Given the description of an element on the screen output the (x, y) to click on. 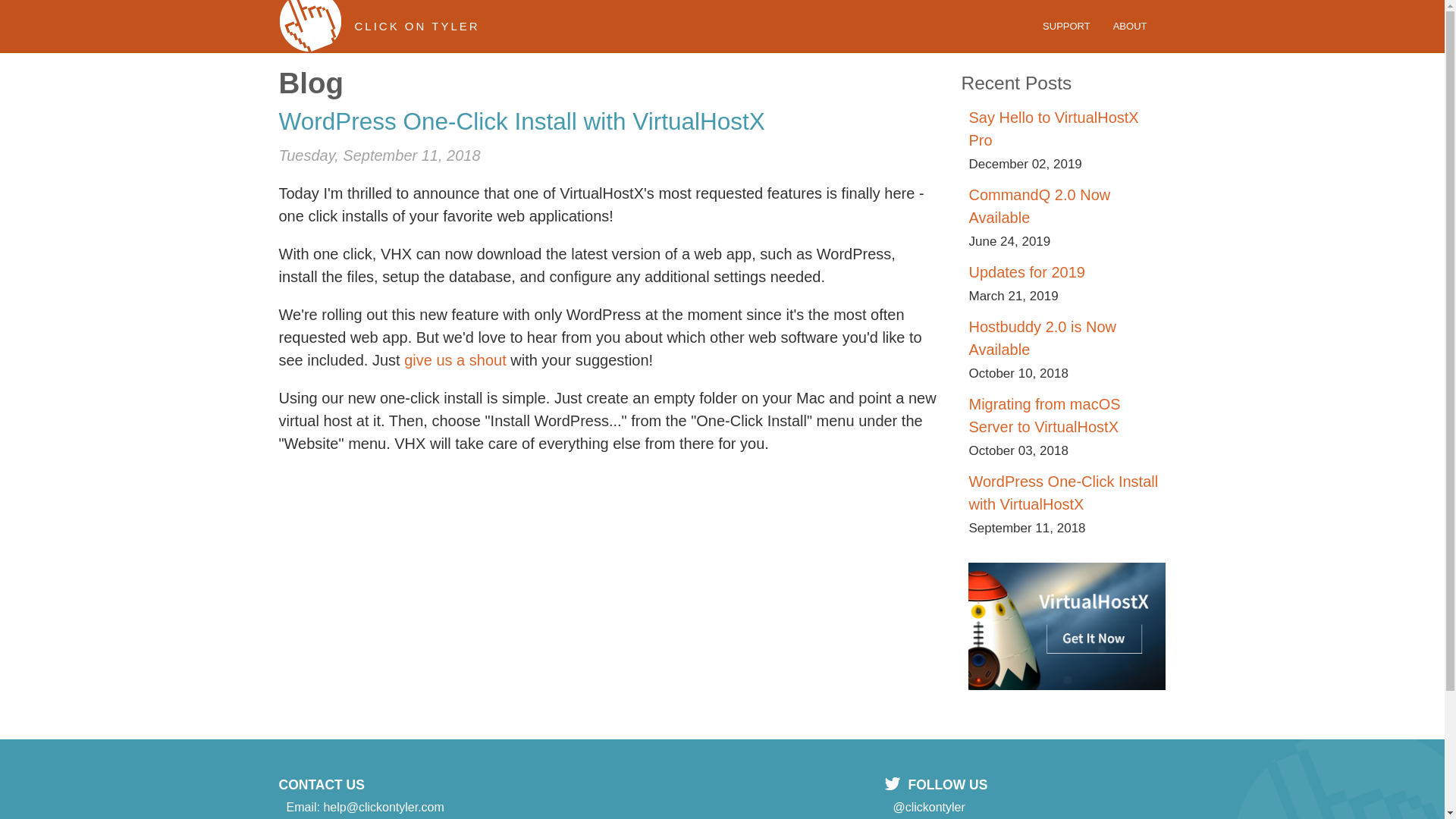
SUPPORT (1066, 26)
give us a shout (455, 360)
Migrating from macOS Server to VirtualHostX (1043, 414)
CommandQ 2.0 Now Available (1038, 206)
Hostbuddy 2.0 is Now Available (1042, 337)
CLICK ON TYLER (379, 33)
Say Hello to VirtualHostX Pro (1053, 128)
ABOUT (1130, 26)
WordPress One-Click Install with VirtualHostX (1062, 492)
Updates for 2019 (1026, 271)
